Given the description of an element on the screen output the (x, y) to click on. 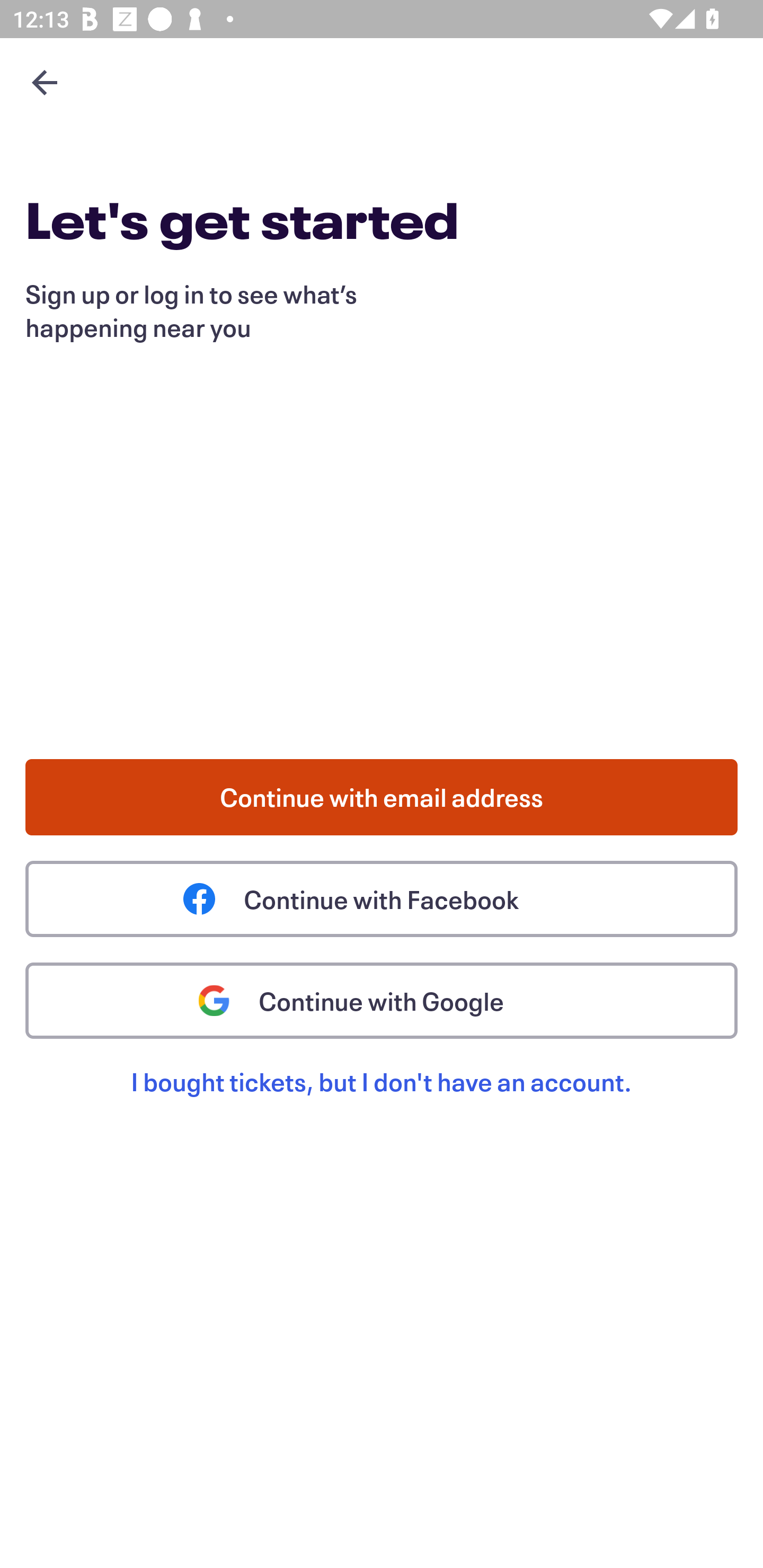
Navigate up (44, 82)
Continue with email address (381, 796)
I bought tickets, but I don't have an account. (381, 1101)
